Given the description of an element on the screen output the (x, y) to click on. 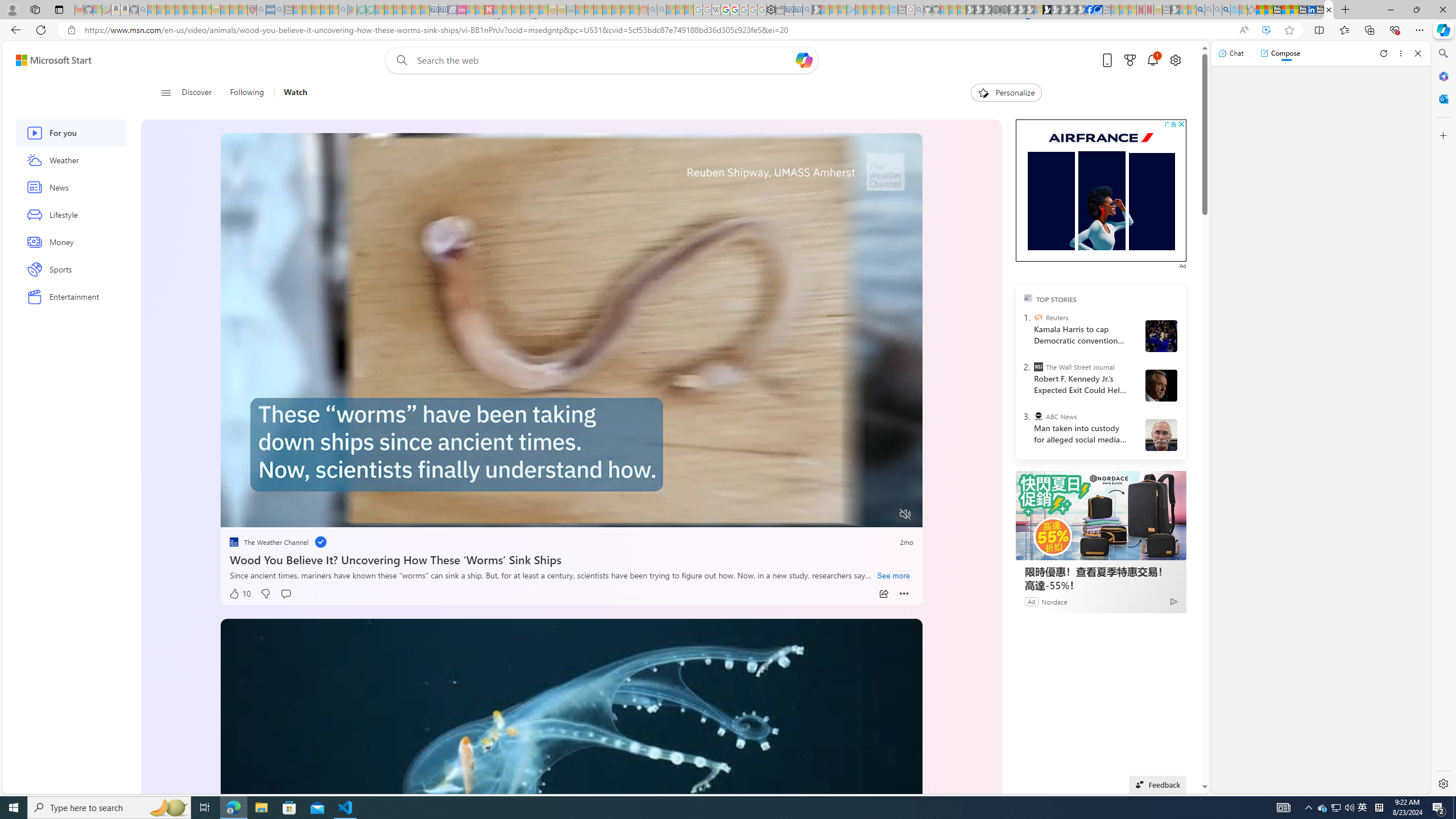
Fullscreen (883, 514)
MSN - Sleeping (1174, 9)
Compose (1279, 52)
Personalize (1006, 92)
To get missing image descriptions, open the context menu. (260, 513)
Robert H. Shmerling, MD - Harvard Health - Sleeping (252, 9)
Cheap Hotels - Save70.com - Sleeping (442, 9)
Target page - Wikipedia - Sleeping (716, 9)
Bluey: Let's Play! - Apps on Google Play - Sleeping (352, 9)
MSNBC - MSN - Sleeping (579, 9)
